Given the description of an element on the screen output the (x, y) to click on. 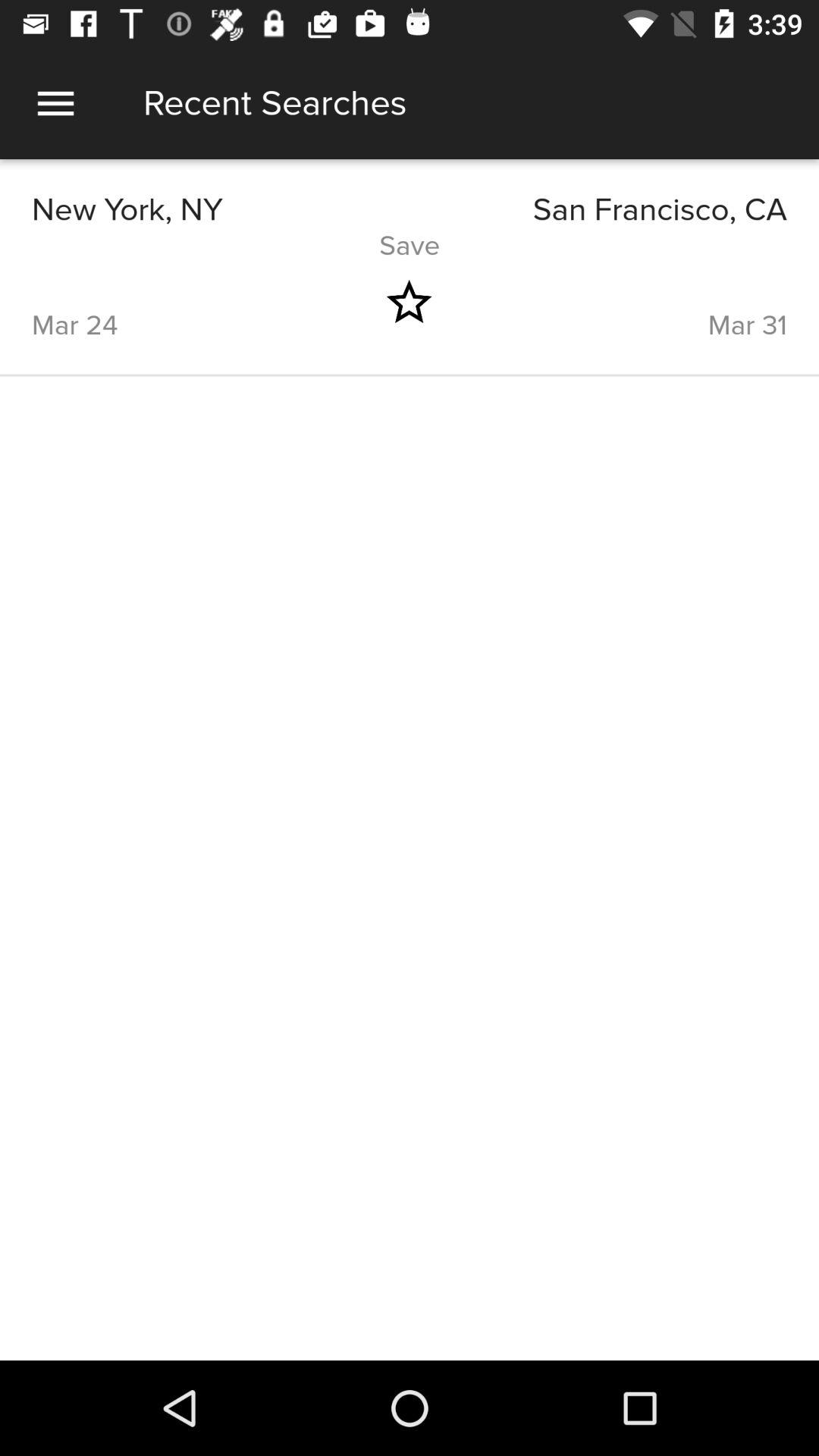
tap the icon above the new york, ny (55, 103)
